Given the description of an element on the screen output the (x, y) to click on. 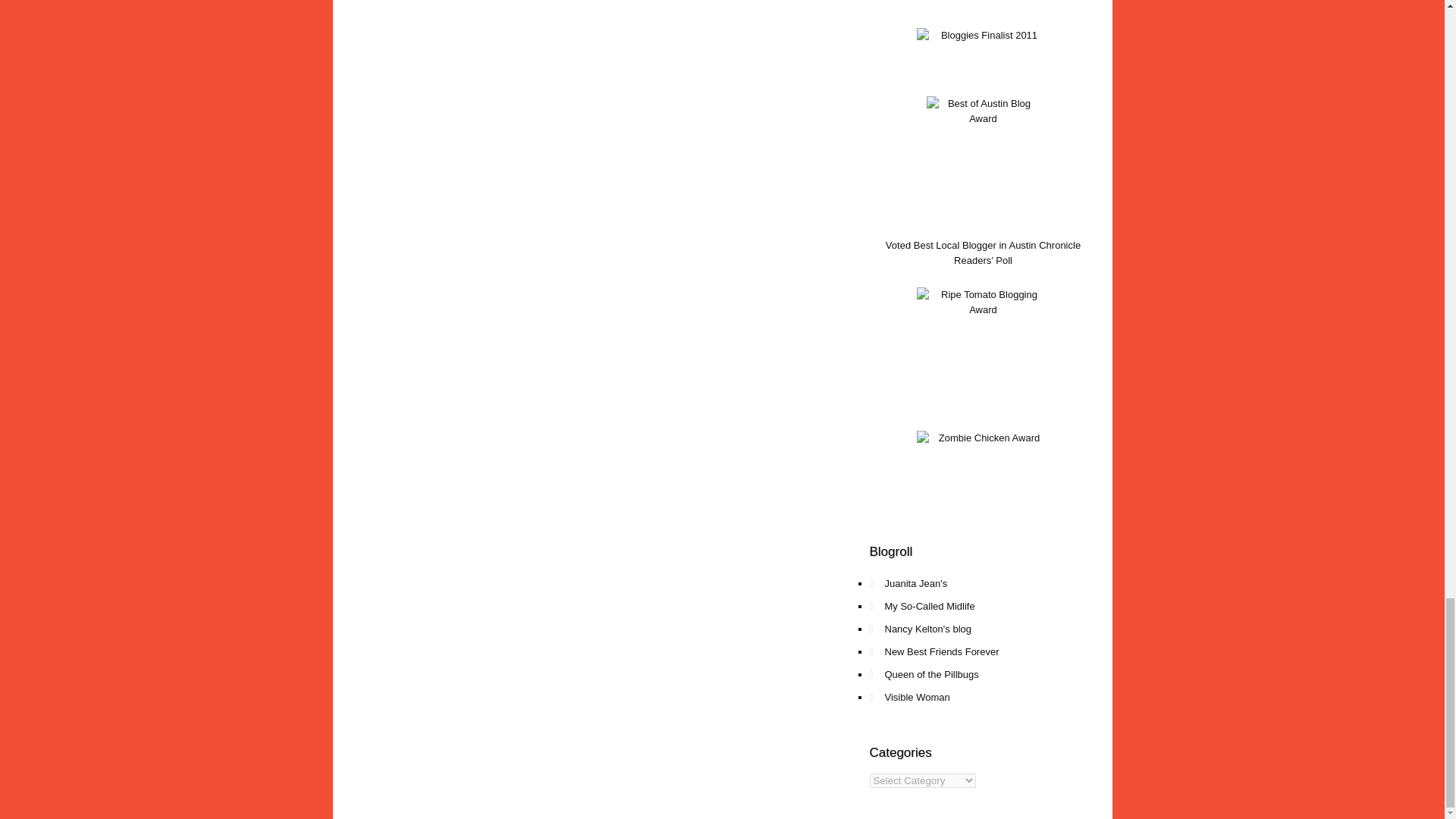
Nancy Kelton's blog (990, 629)
Ripe Tomato Blogging Award (982, 354)
New Best Friends Forever (990, 651)
Best of Austin Blog Award (982, 157)
Zombie Chicken Award (982, 482)
Juanita Jean's (990, 583)
Visible Woman (990, 697)
Bloggies Finalist 2011 (982, 58)
Queen of the Pillbugs (990, 674)
My So-Called Midlife (990, 606)
